Given the description of an element on the screen output the (x, y) to click on. 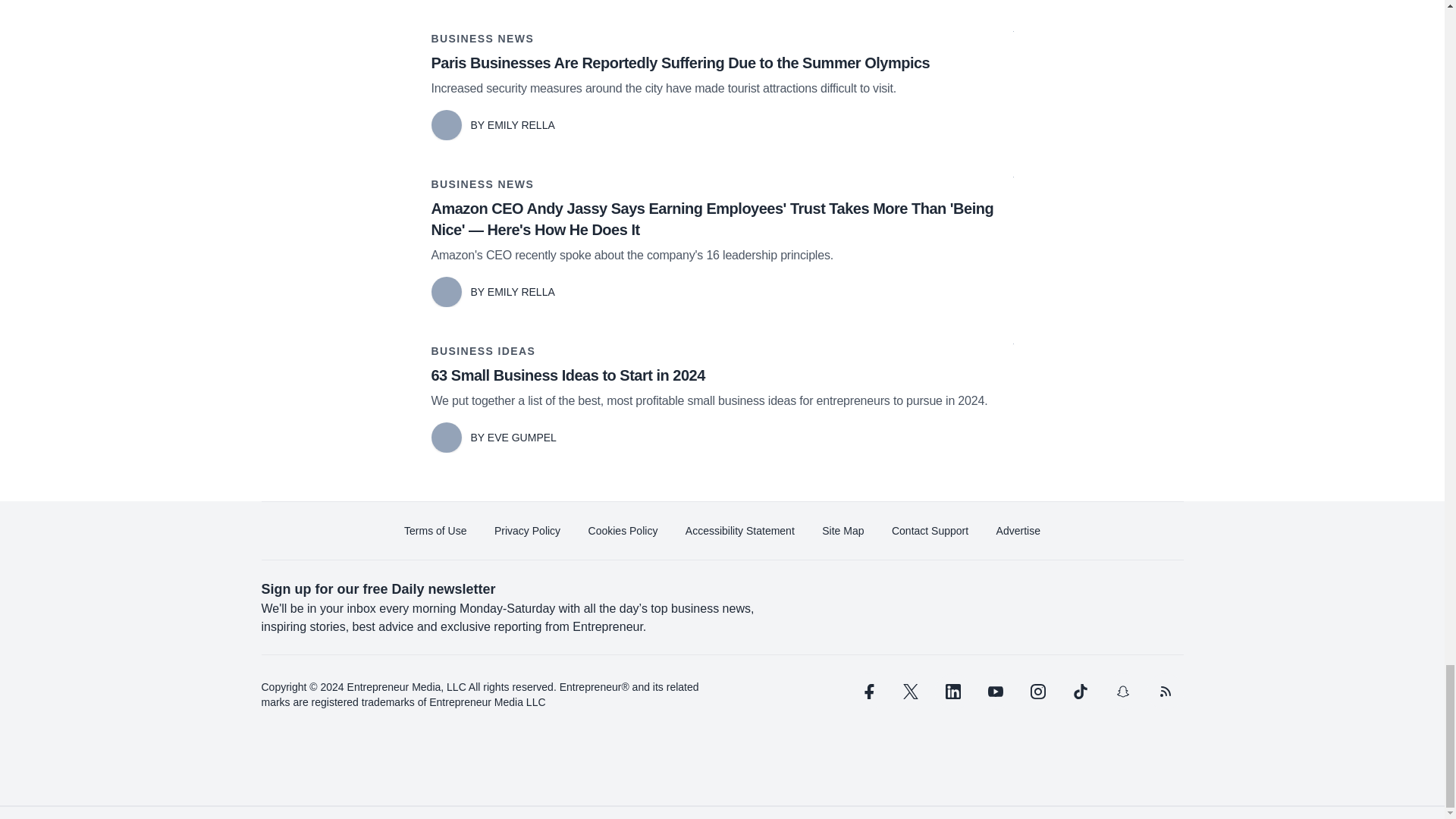
twitter (909, 691)
instagram (1037, 691)
facebook (866, 691)
linkedin (952, 691)
youtube (994, 691)
tiktok (1079, 691)
snapchat (1121, 691)
rss (1164, 691)
